Given the description of an element on the screen output the (x, y) to click on. 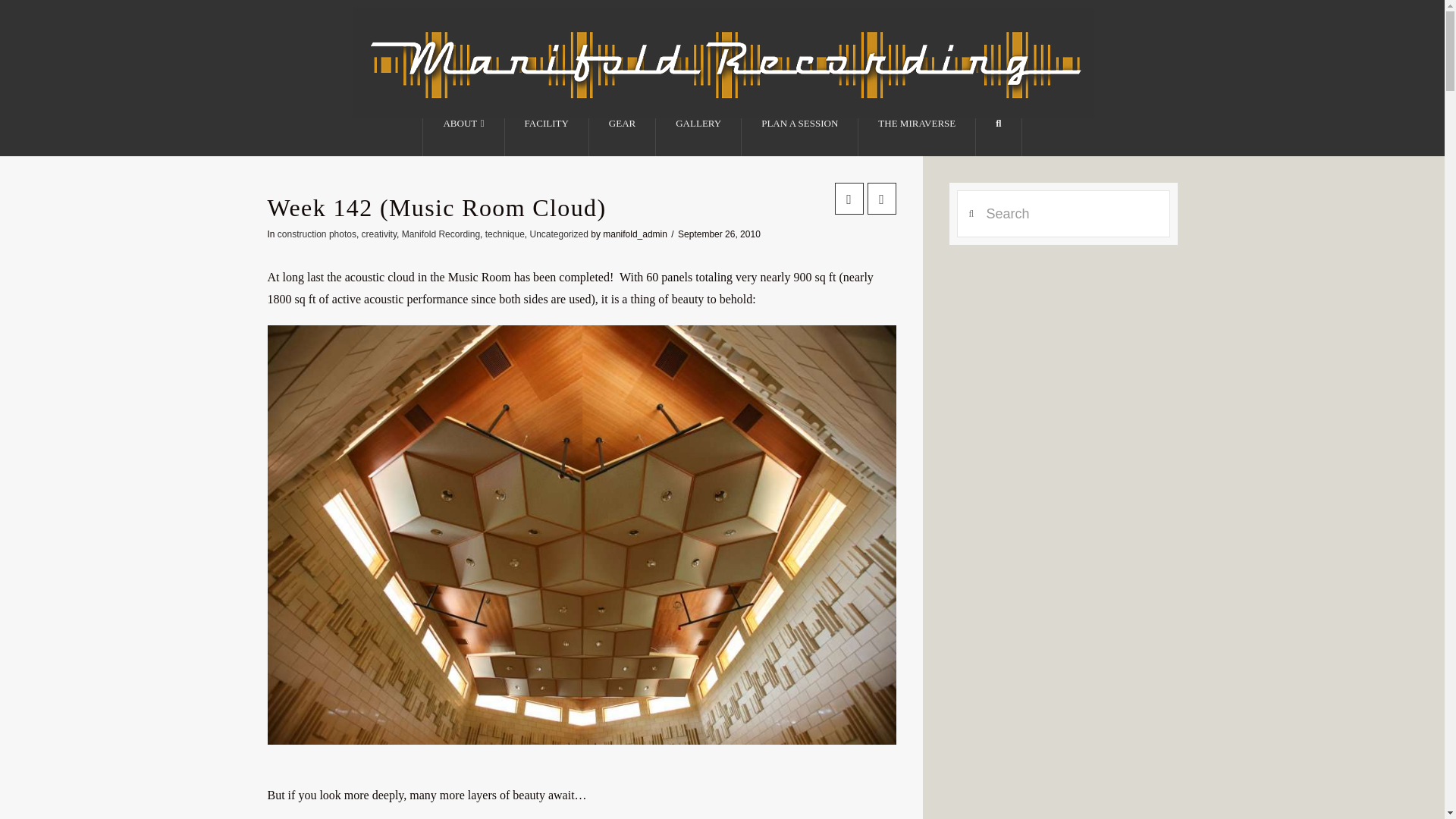
FACILITY (547, 136)
Manifold Recording (440, 234)
technique (504, 234)
ABOUT (462, 136)
GEAR (622, 136)
PLAN A SESSION (800, 136)
construction photos (317, 234)
Uncategorized (558, 234)
GALLERY (698, 136)
THE MIRAVERSE (917, 136)
creativity (378, 234)
